Given the description of an element on the screen output the (x, y) to click on. 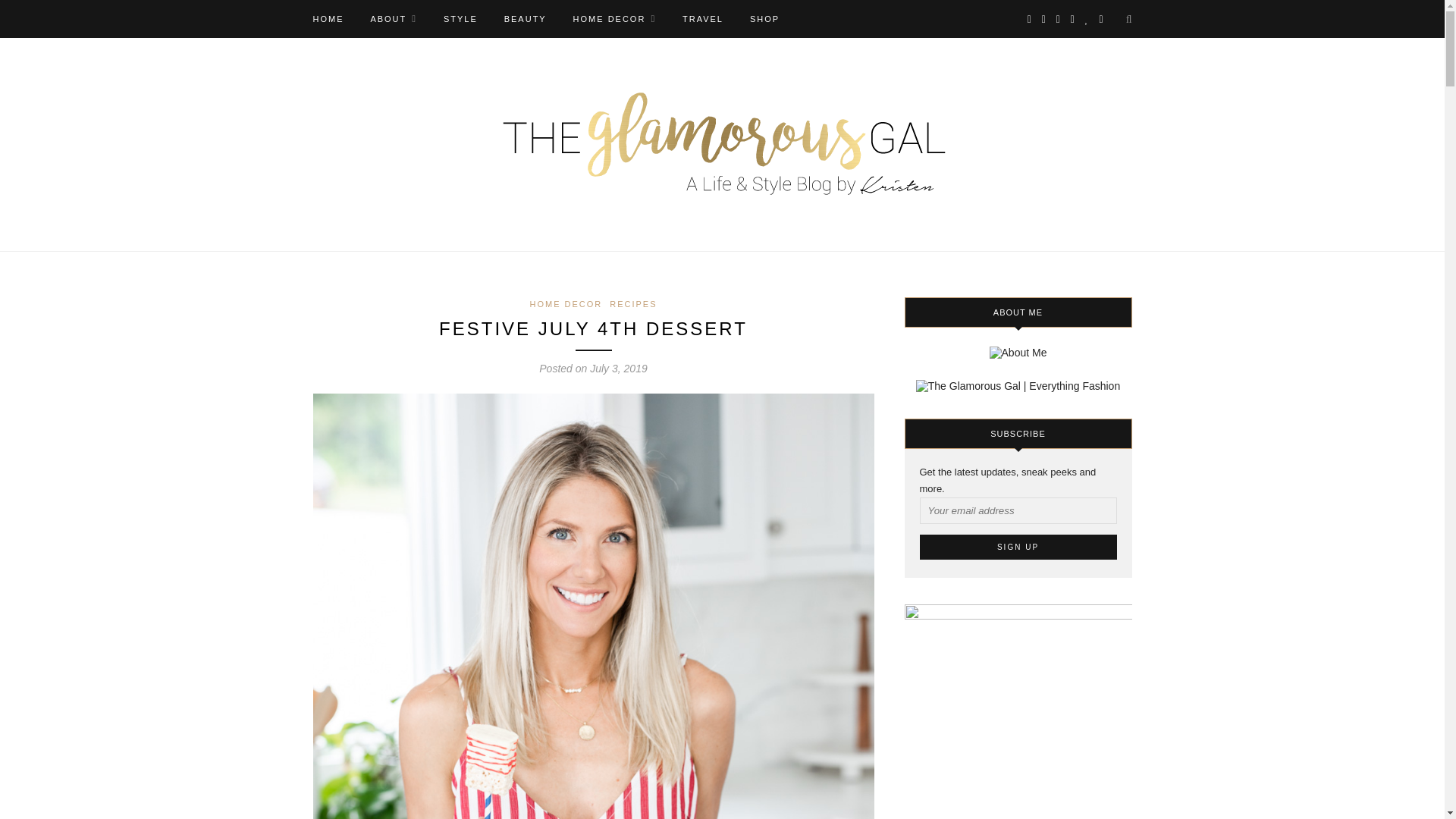
STYLE (460, 18)
RECIPES (633, 303)
HOME DECOR (614, 18)
HOME DECOR (565, 303)
About Me (392, 18)
Sign up (1017, 546)
TRAVEL (702, 18)
BEAUTY (525, 18)
ABOUT (392, 18)
